Given the description of an element on the screen output the (x, y) to click on. 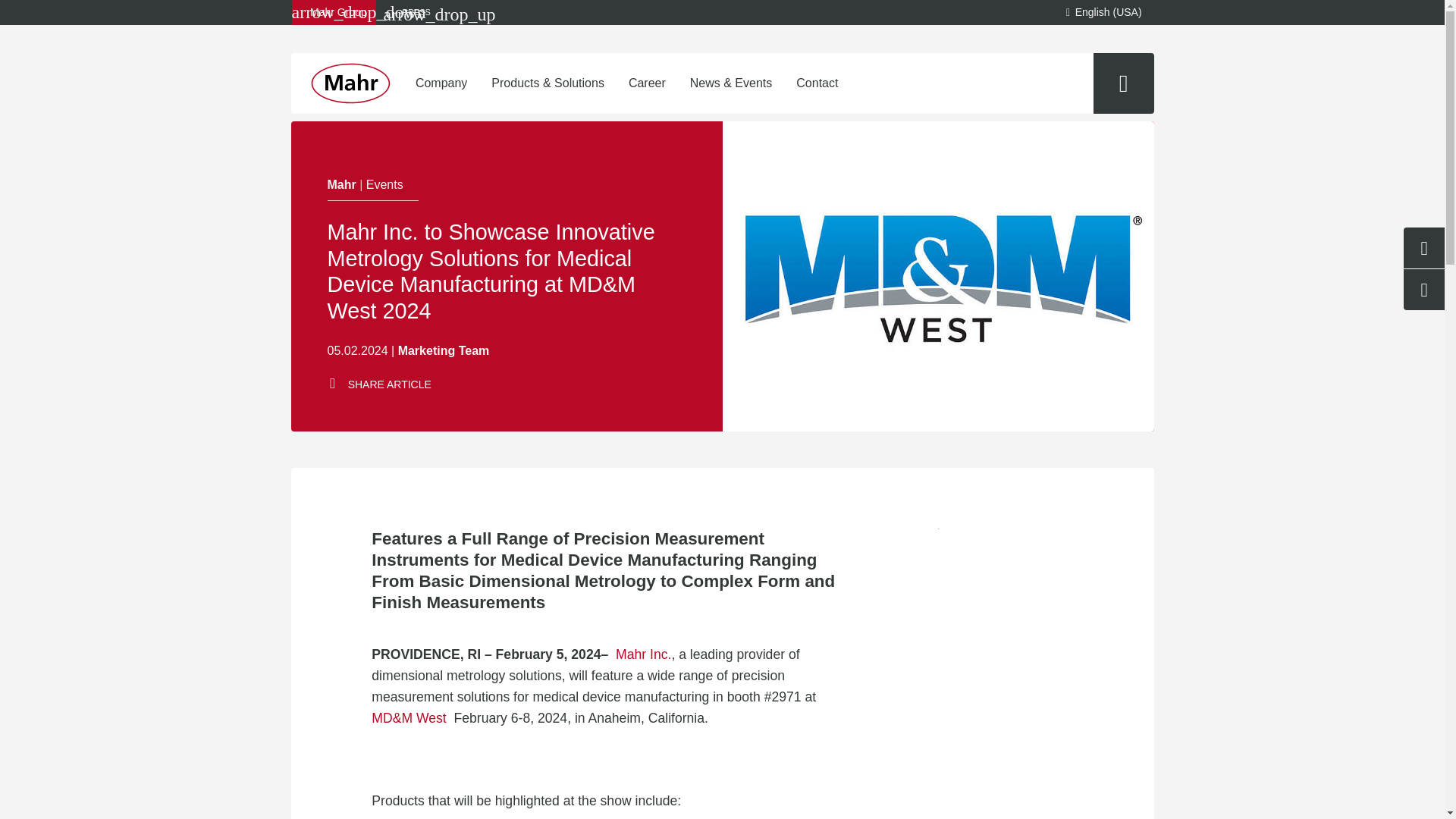
Company (441, 83)
Career (646, 83)
Press (407, 11)
Contact (817, 83)
Contact (817, 83)
Mahr Group (333, 12)
Career (646, 83)
Mahr Group (333, 12)
Company (441, 83)
PRESS (407, 11)
